Given the description of an element on the screen output the (x, y) to click on. 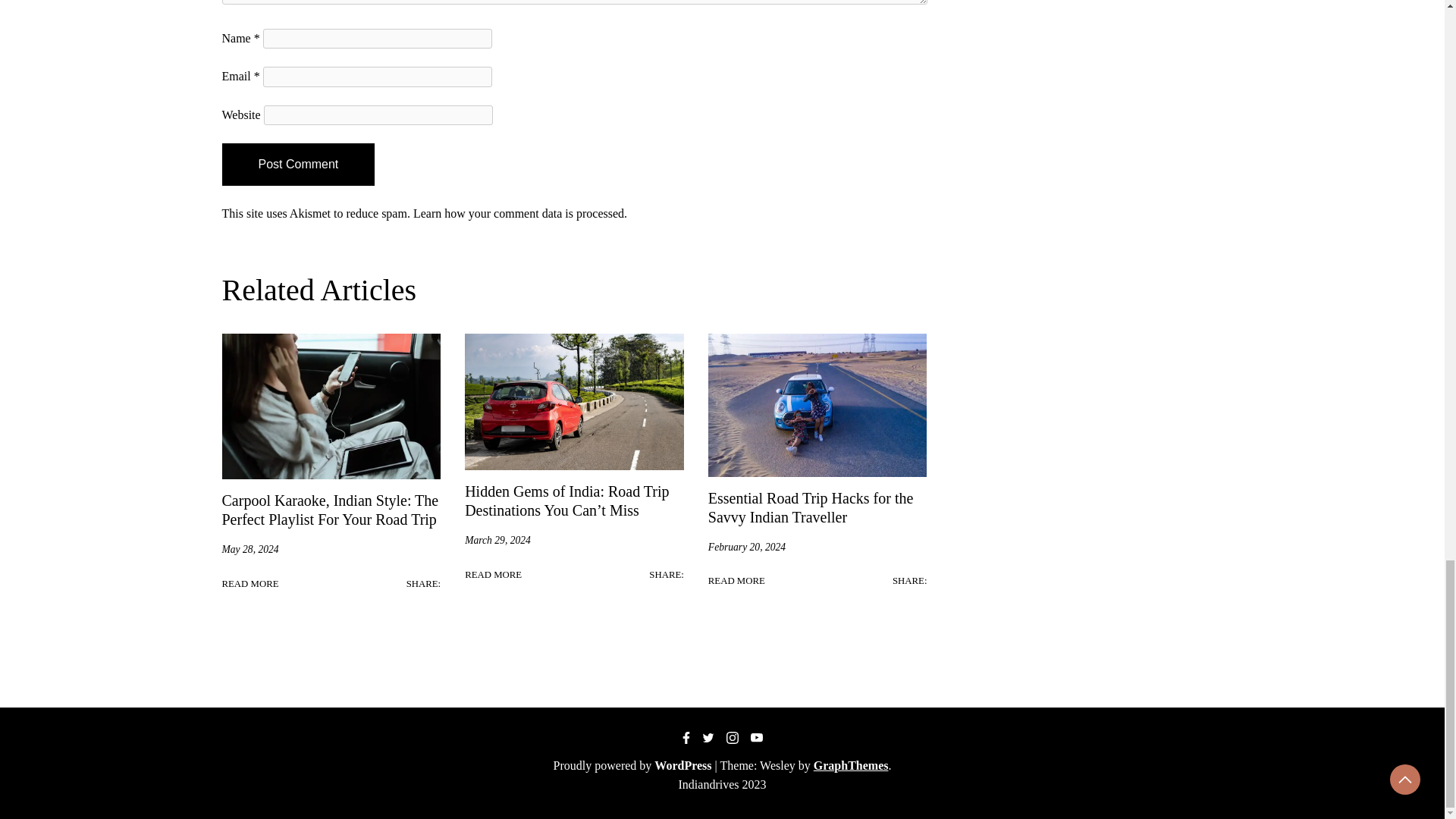
Essential Road Trip Hacks for the Savvy Indian Traveller (810, 507)
Learn how your comment data is processed (518, 213)
March 29, 2024 (497, 540)
Post Comment (297, 164)
February 20, 2024 (746, 547)
READ MORE (492, 574)
Post Comment (297, 164)
May 28, 2024 (249, 549)
READ MORE (736, 580)
READ MORE (249, 583)
